Given the description of an element on the screen output the (x, y) to click on. 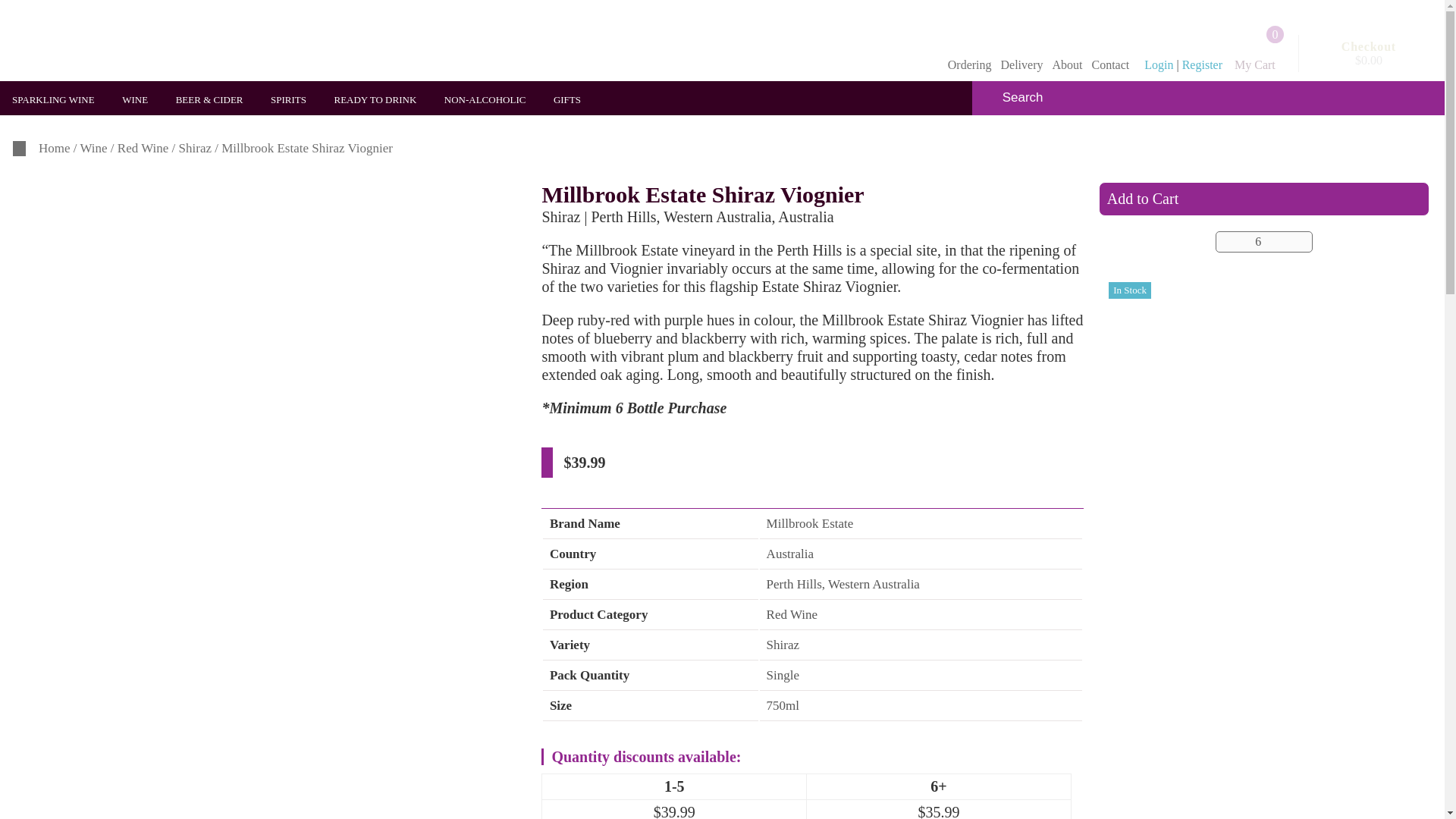
6 (1264, 241)
Wine (139, 99)
Visit deVine Cellars (125, 42)
Spirits (292, 99)
Visit deVine Cellars (125, 40)
